Given the description of an element on the screen output the (x, y) to click on. 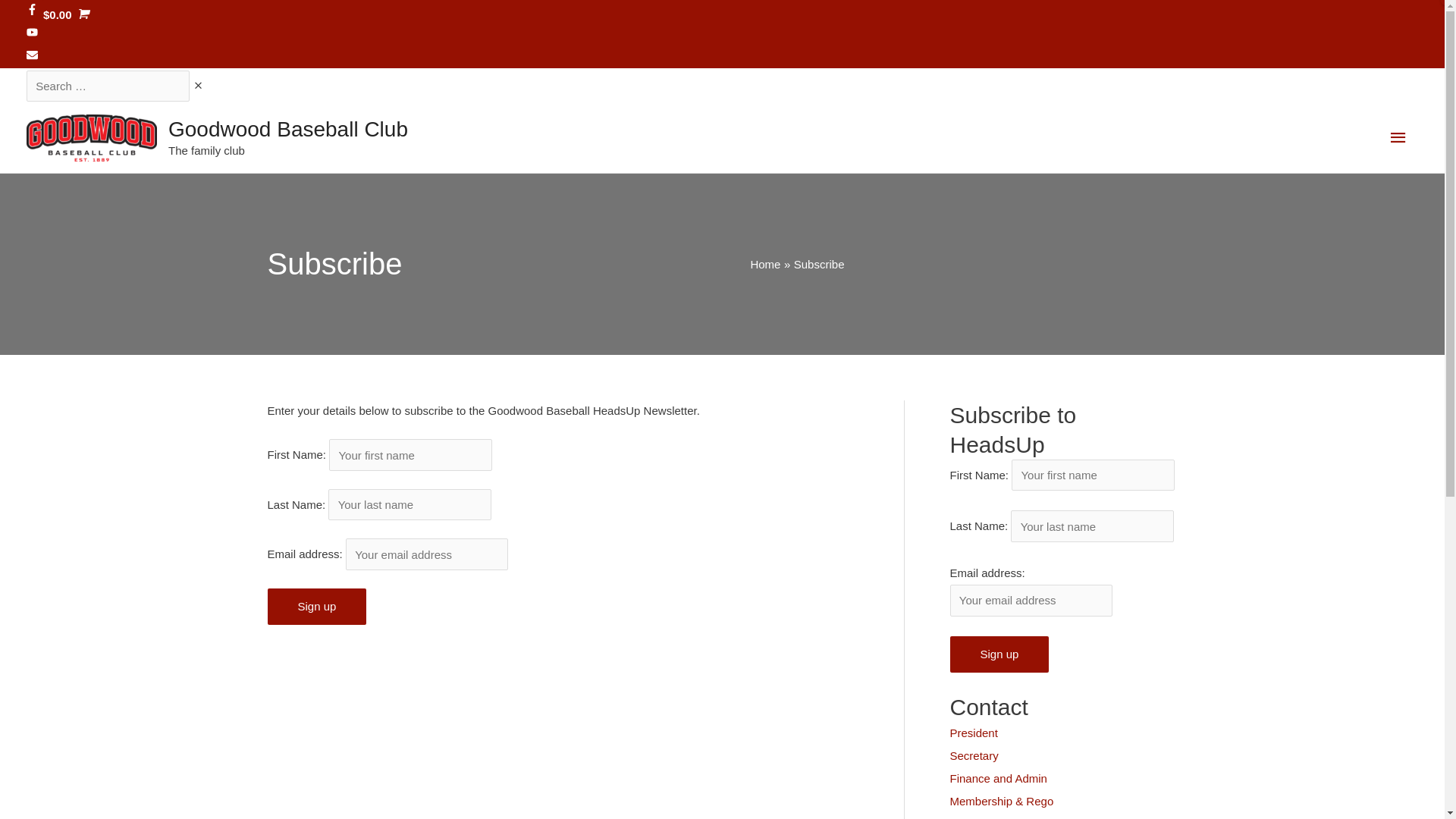
President Element type: text (973, 732)
Main Menu Element type: text (1398, 137)
Goodwood Baseball Club Element type: text (287, 129)
Sign up Element type: text (316, 606)
Secretary Element type: text (973, 755)
Finance and Admin Element type: text (997, 777)
$0.00 Element type: text (64, 15)
Membership & Rego Element type: text (1001, 800)
Sign up Element type: text (998, 654)
Home Element type: text (764, 263)
